Given the description of an element on the screen output the (x, y) to click on. 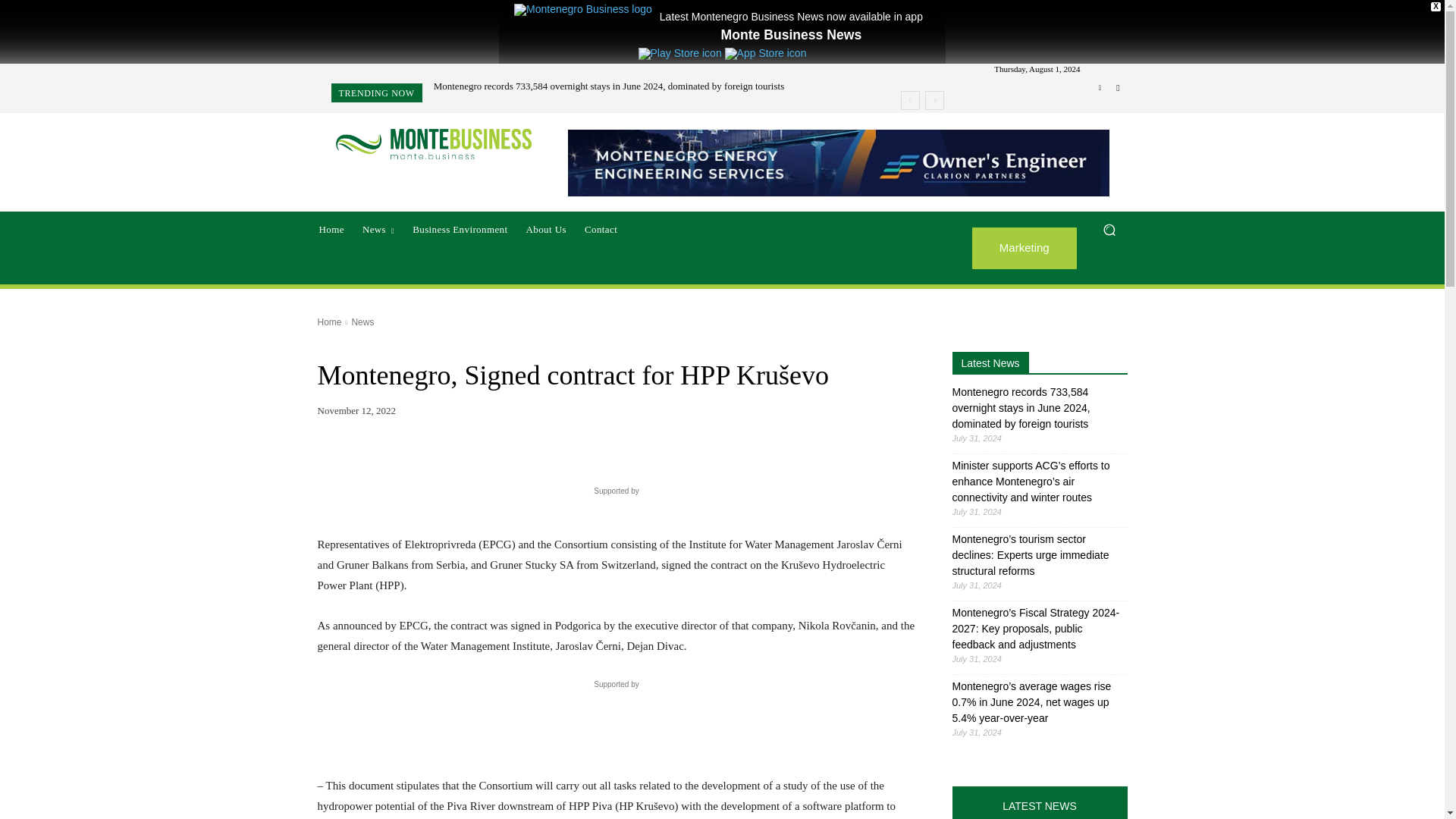
Twitter (1117, 87)
Marketing (1024, 248)
Business Environment (459, 229)
Marketing (1024, 248)
Linkedin (1099, 87)
Contact (600, 229)
Home (330, 229)
News (378, 229)
About Us (545, 229)
